Given the description of an element on the screen output the (x, y) to click on. 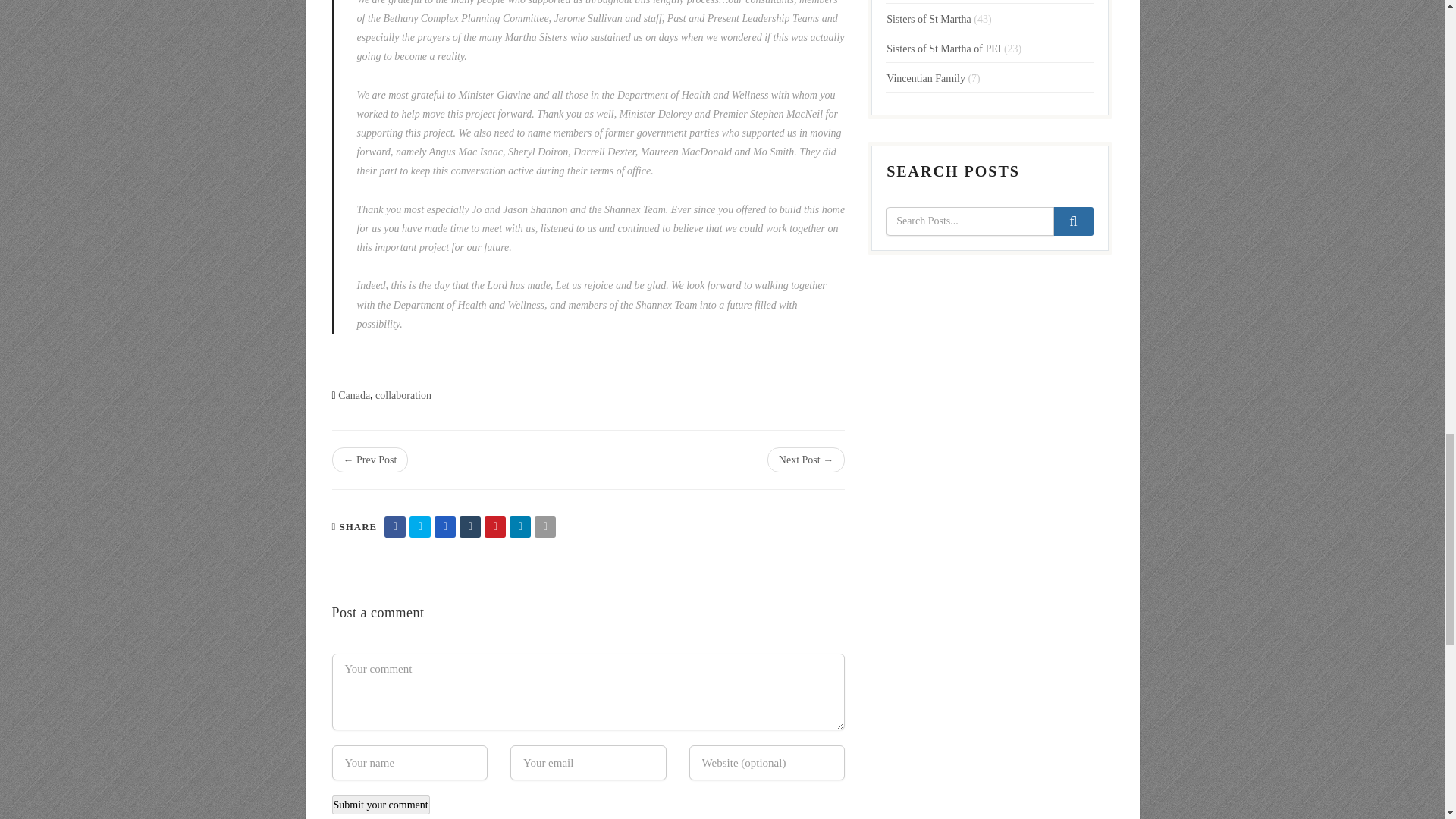
Email (545, 526)
Tweet (419, 526)
Share on Facebook (395, 526)
Share on Linkedin (520, 526)
Submit your comment (380, 804)
Post to Tumblr (470, 526)
Pin it (494, 526)
collaboration (402, 395)
Canada (353, 395)
